Given the description of an element on the screen output the (x, y) to click on. 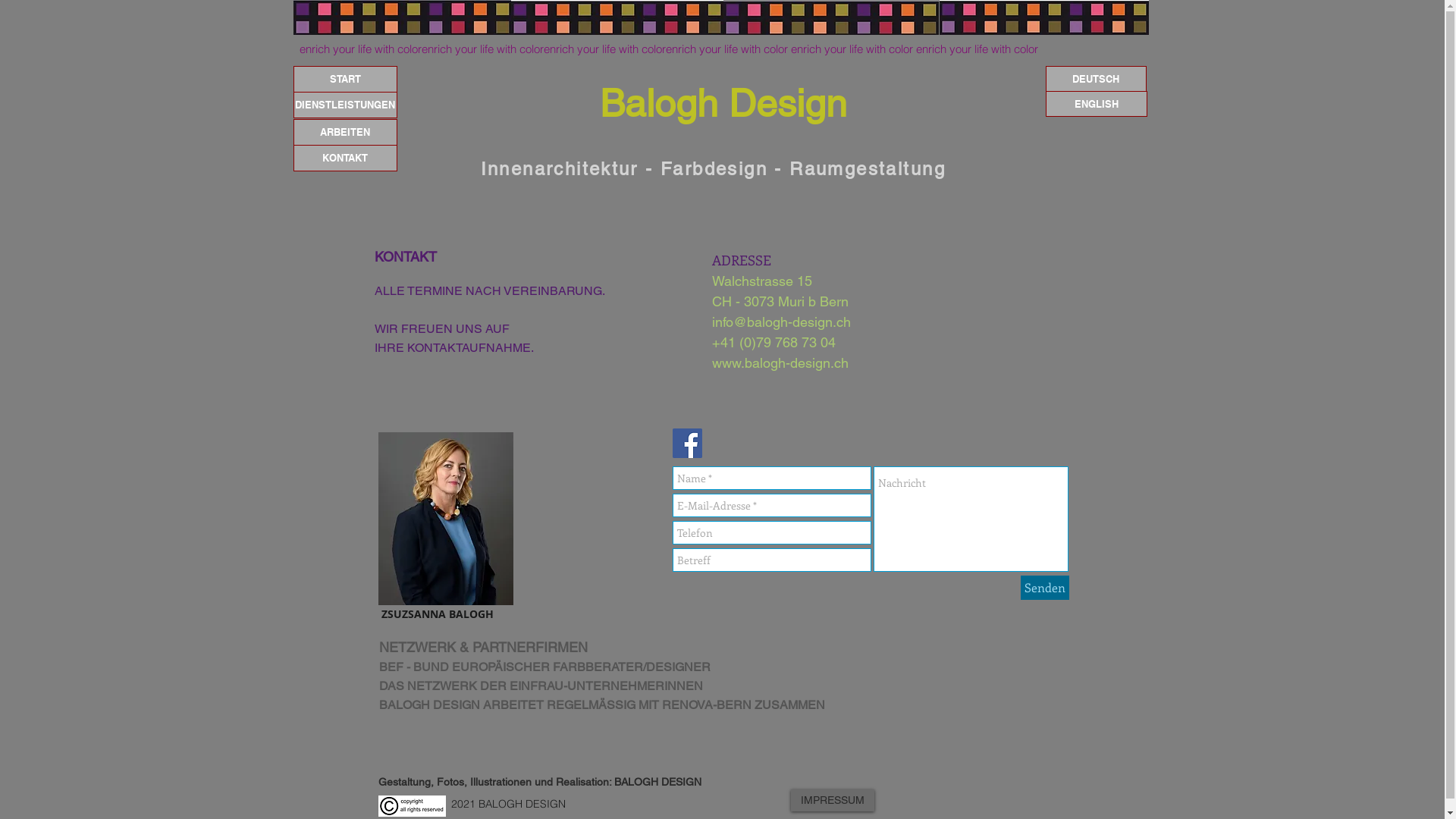
DEUTSCH Element type: text (1094, 78)
ARBEITEN Element type: text (344, 132)
DIENSTLEISTUNGEN Element type: text (344, 104)
ENGLISH Element type: text (1095, 103)
zsuzsaparis.jpg Element type: hover (444, 518)
START Element type: text (344, 78)
IMPRESSUM Element type: text (831, 800)
info@balogh-design.ch Element type: text (780, 321)
KONTAKT Element type: text (344, 157)
Senden Element type: text (1044, 587)
www.balogh-design.ch Element type: text (779, 362)
